Given the description of an element on the screen output the (x, y) to click on. 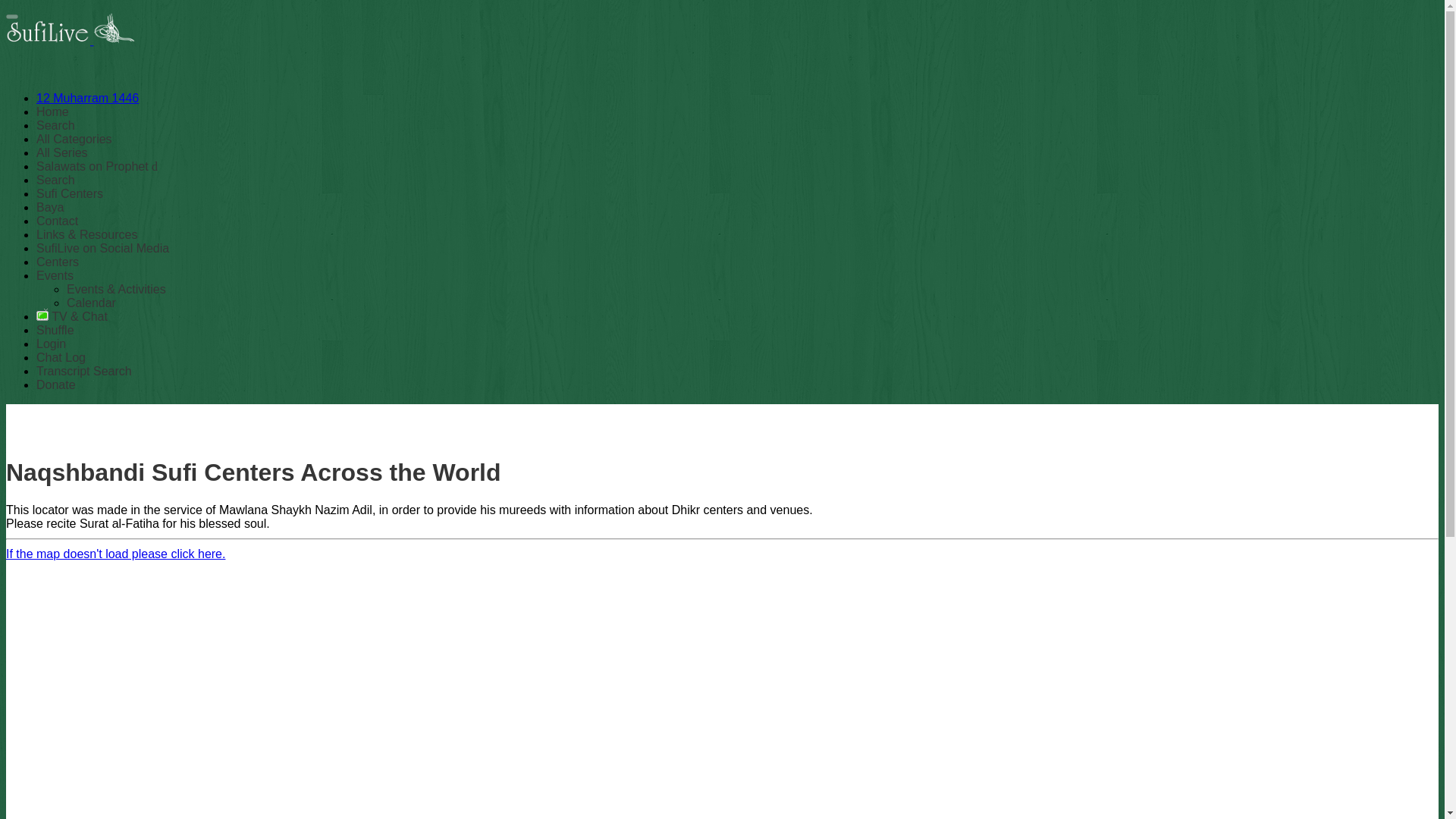
All Categories (74, 138)
Home (52, 111)
Easy and short salawats with tremendous blessings (96, 165)
SufiLive on Social Media (102, 247)
Baya (50, 206)
Transcript Search (84, 370)
Centers (57, 261)
Search (55, 179)
Contact (57, 220)
Chat Log (60, 357)
Login (50, 343)
Calendar (91, 302)
Search (55, 124)
Donate (55, 384)
All Series (61, 152)
